Given the description of an element on the screen output the (x, y) to click on. 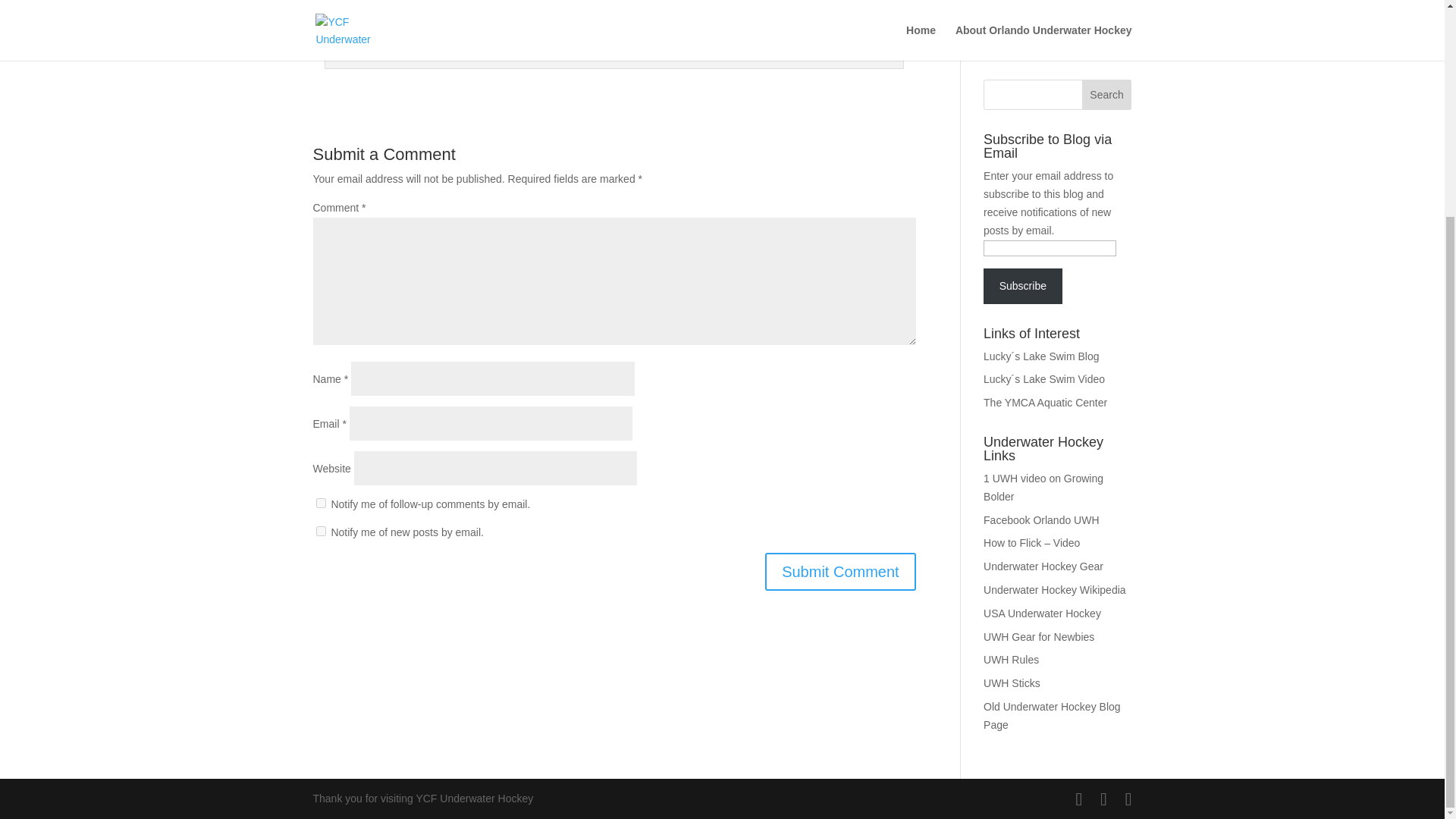
Search (1106, 94)
UWH Sticks (1012, 683)
subscribe (319, 531)
Web site for USA underwater hockey (1042, 613)
UWH Rules (1011, 659)
1 UWH video on Growing Bolder (1043, 487)
Subscribe (1023, 285)
Join our facebook group (1041, 520)
The YMCA Aquatic Center (1045, 402)
